Given the description of an element on the screen output the (x, y) to click on. 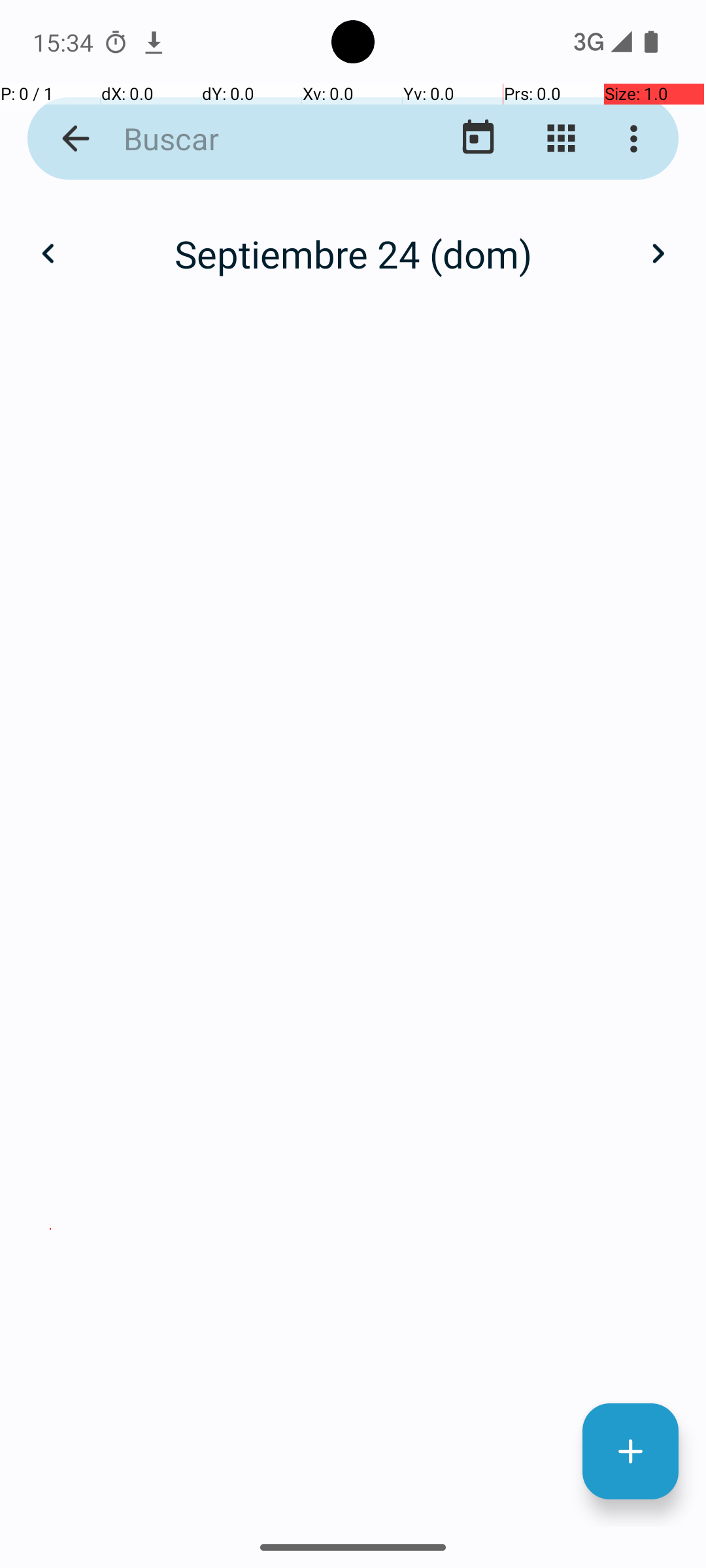
Ir al día de hoy Element type: android.widget.Button (477, 138)
Septiembre 24 (dom) Element type: android.widget.TextView (352, 253)
Septiembre Element type: android.widget.TextView (352, 239)
